Given the description of an element on the screen output the (x, y) to click on. 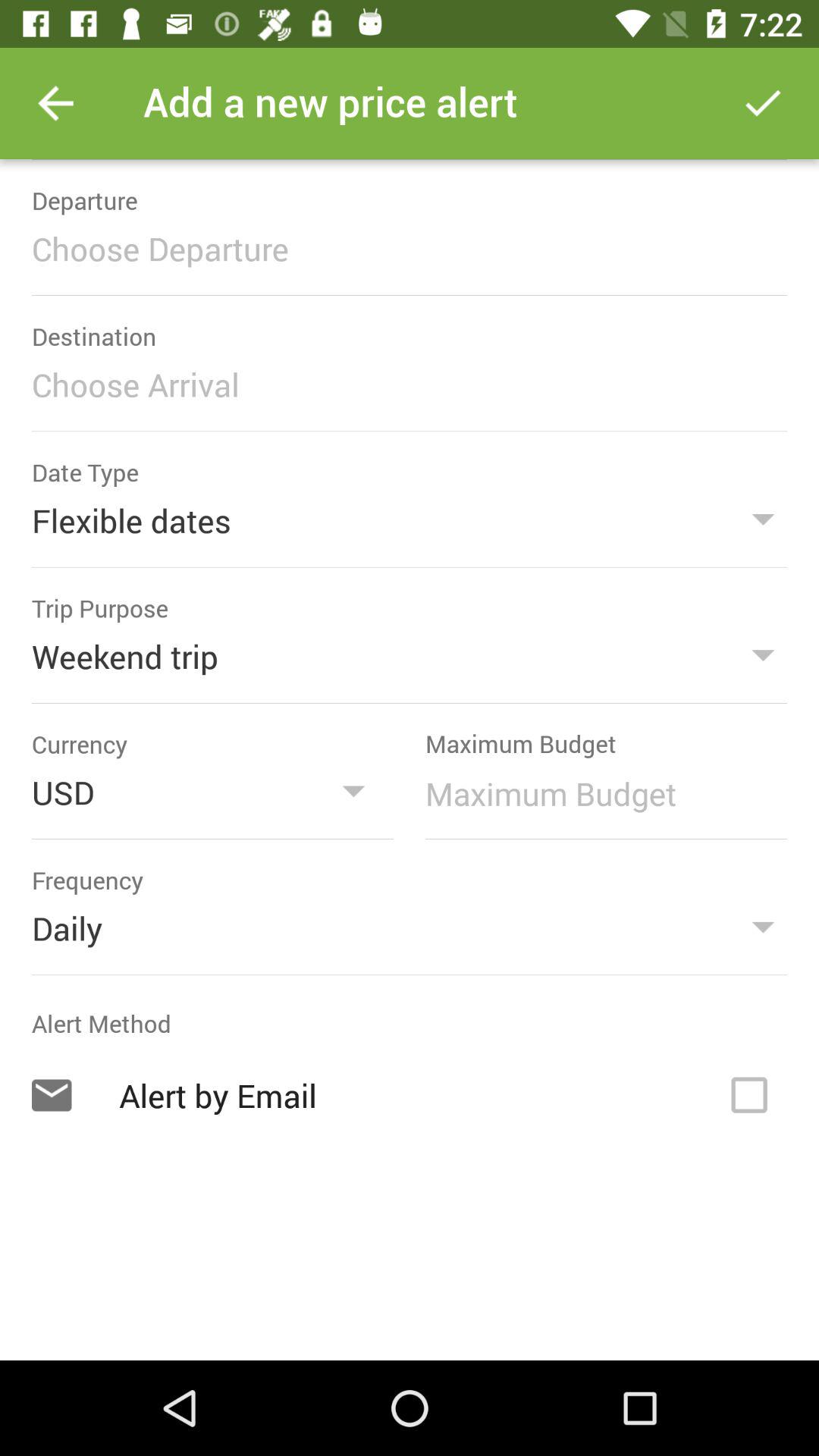
turn on icon to the right of add a new item (763, 103)
